Given the description of an element on the screen output the (x, y) to click on. 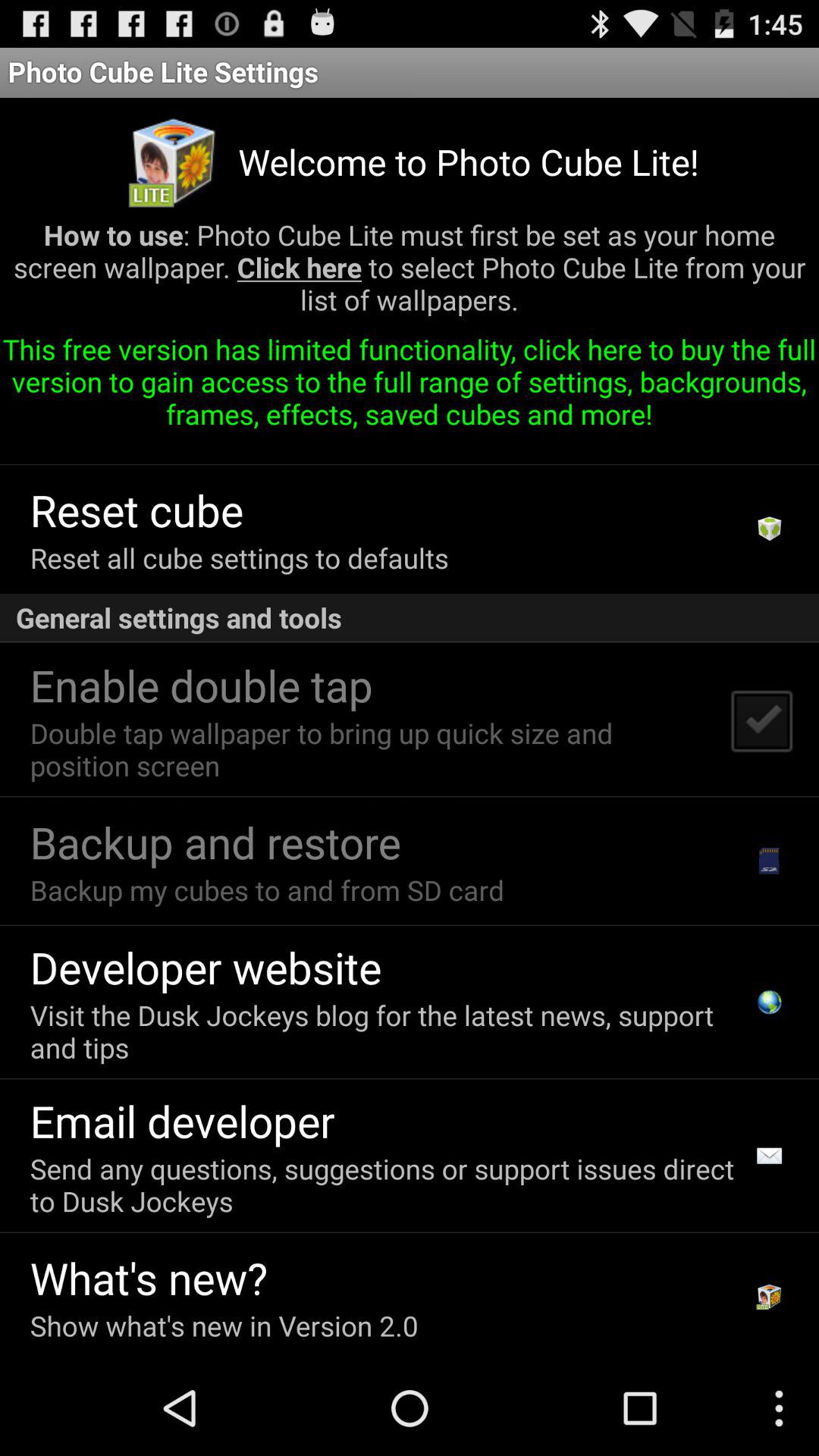
swipe to the this free version icon (409, 387)
